Given the description of an element on the screen output the (x, y) to click on. 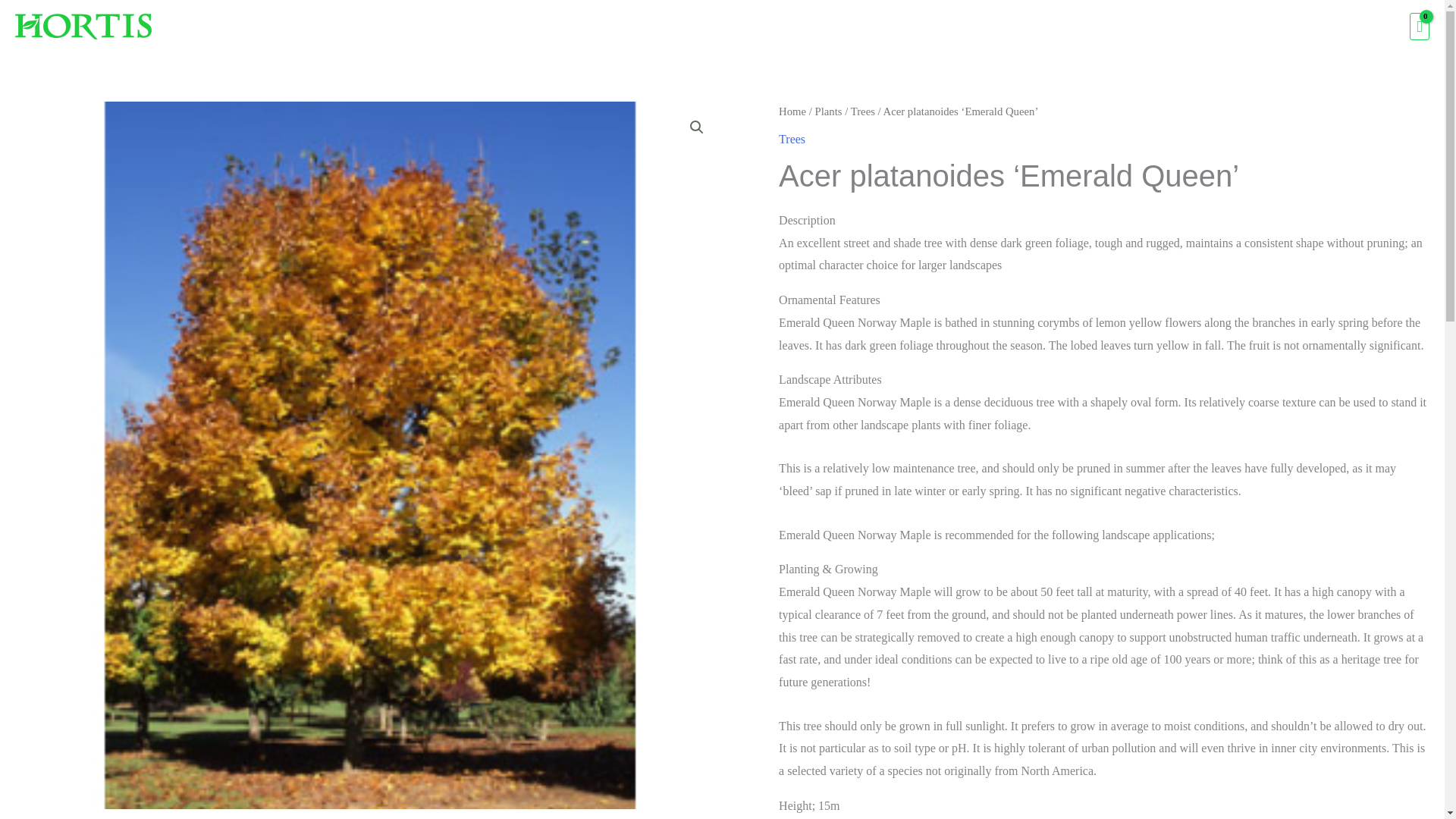
Plants (1061, 26)
Bulk (1276, 26)
Info (1327, 26)
Hardgoods (1136, 26)
Clothes (1216, 26)
